Given the description of an element on the screen output the (x, y) to click on. 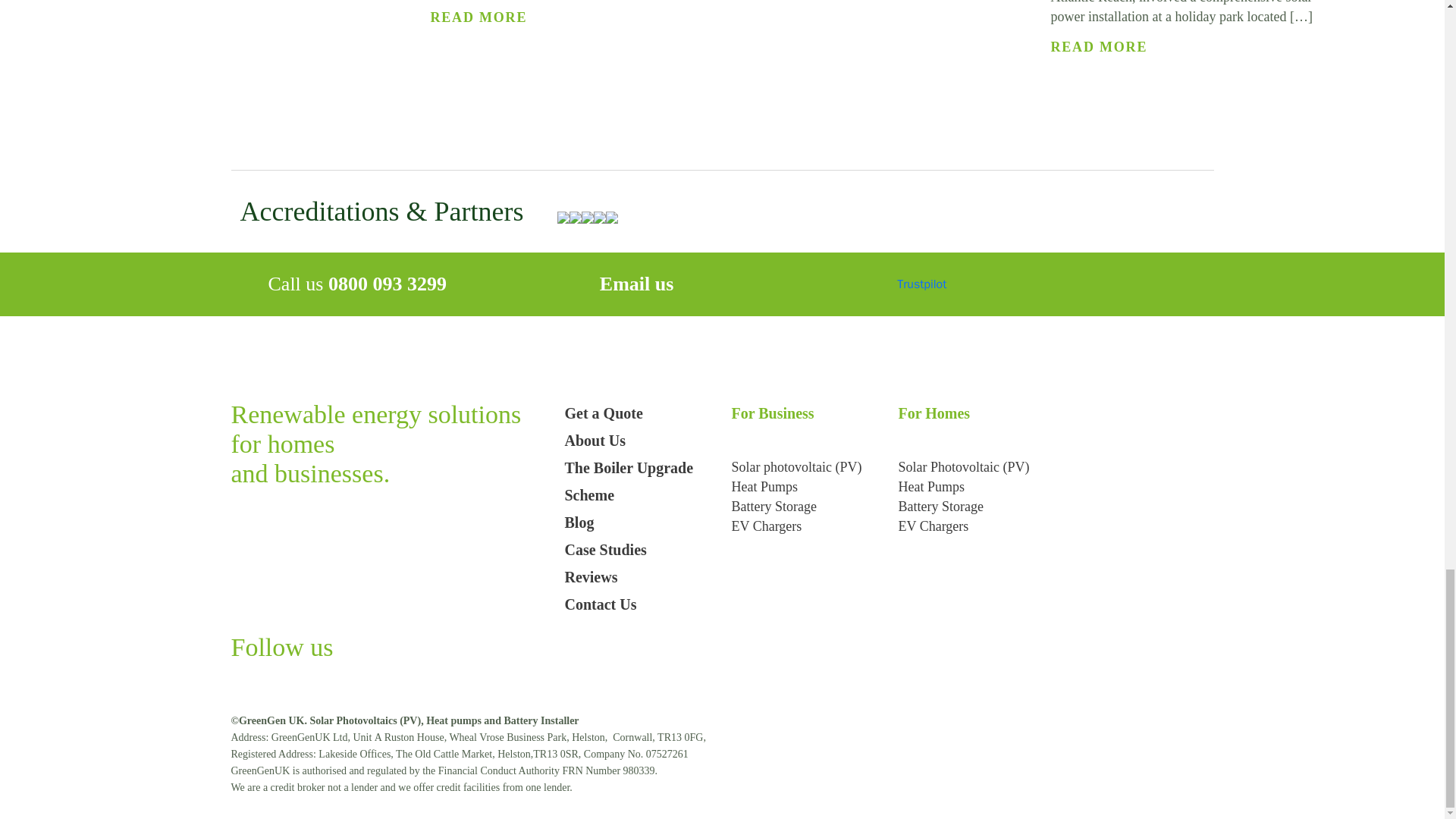
READ MORE (1099, 46)
READ MORE (478, 17)
